Given the description of an element on the screen output the (x, y) to click on. 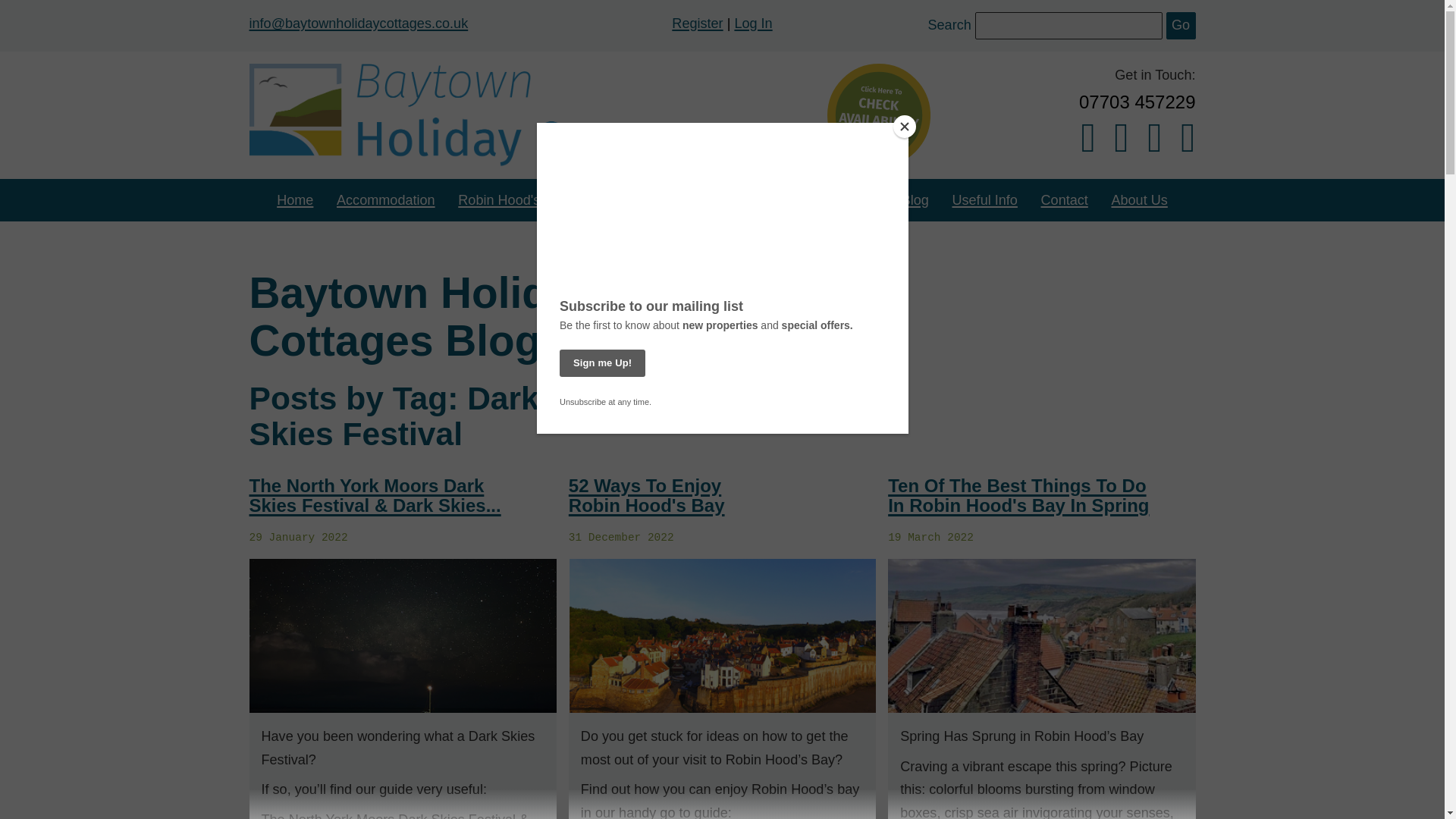
Blog (915, 200)
Accessibility (737, 200)
Register (696, 23)
Useful Info (984, 200)
Log In (752, 23)
Go (1180, 25)
Accommodation (385, 200)
Home (294, 200)
About Us (1139, 200)
Sustainability (837, 200)
Go (1180, 25)
Contact (1063, 200)
